Given the description of an element on the screen output the (x, y) to click on. 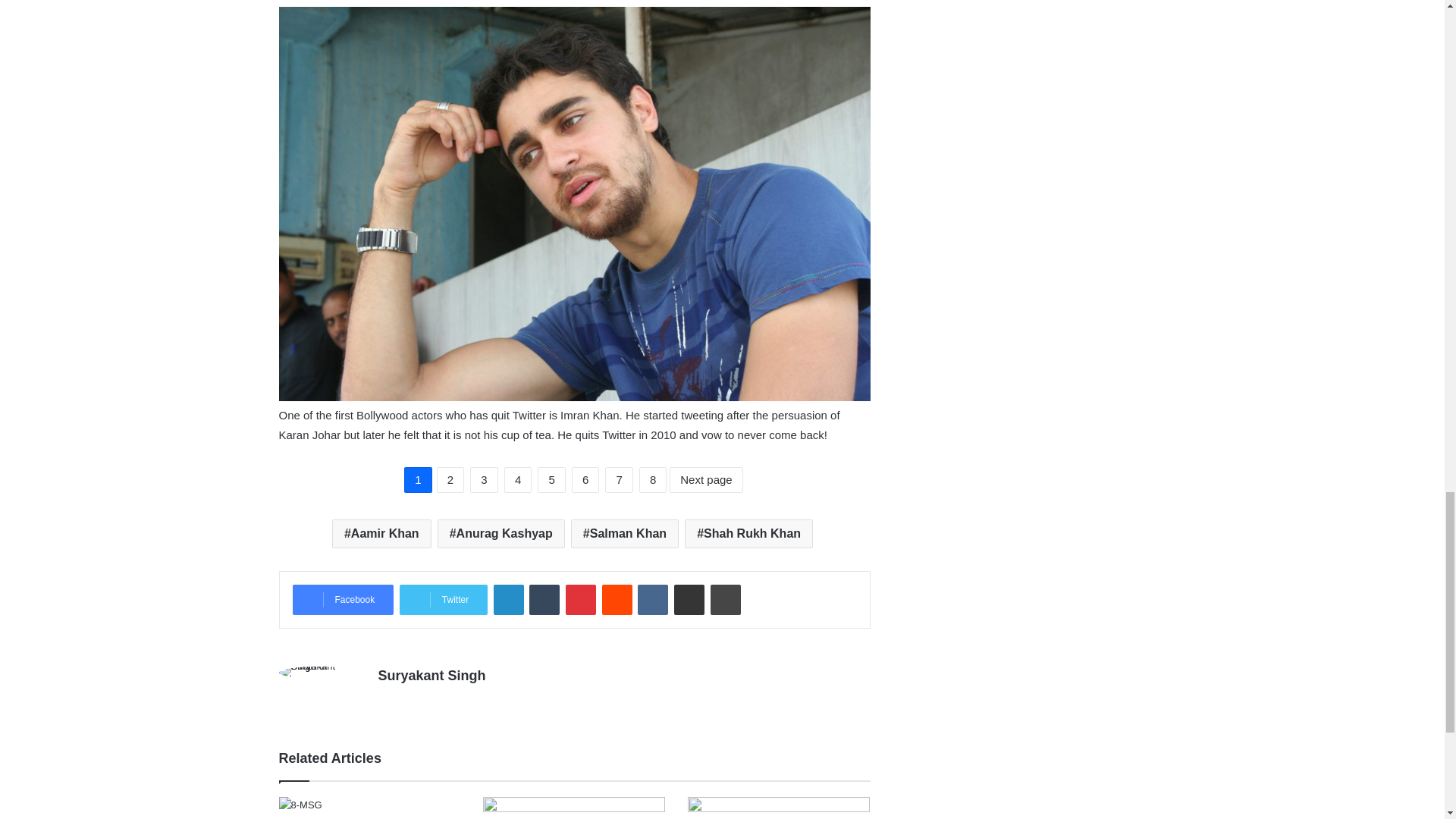
6 (585, 479)
Facebook (343, 599)
5 (550, 479)
4 (517, 479)
Share via Email (689, 599)
Pinterest (580, 599)
8 (652, 479)
LinkedIn (508, 599)
7 (618, 479)
VKontakte (652, 599)
3 (483, 479)
2 (450, 479)
Print (725, 599)
Reddit (616, 599)
Twitter (442, 599)
